Given the description of an element on the screen output the (x, y) to click on. 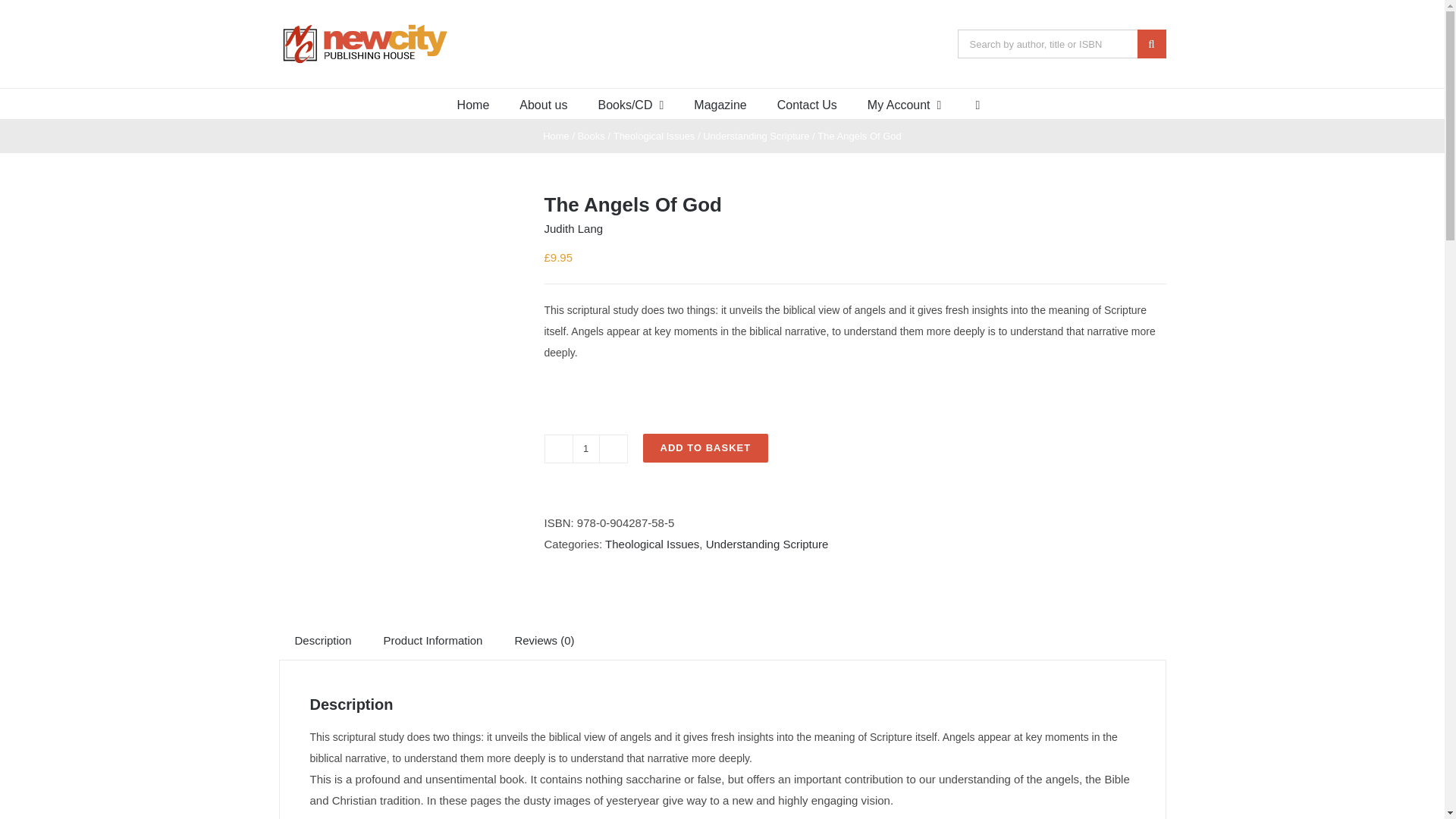
Author: Judith Lang (574, 228)
1 (585, 448)
About us (543, 103)
Magazine (719, 103)
My Account (904, 103)
Home (556, 135)
Contact Us (807, 103)
Log In (959, 243)
Home (473, 103)
